Given the description of an element on the screen output the (x, y) to click on. 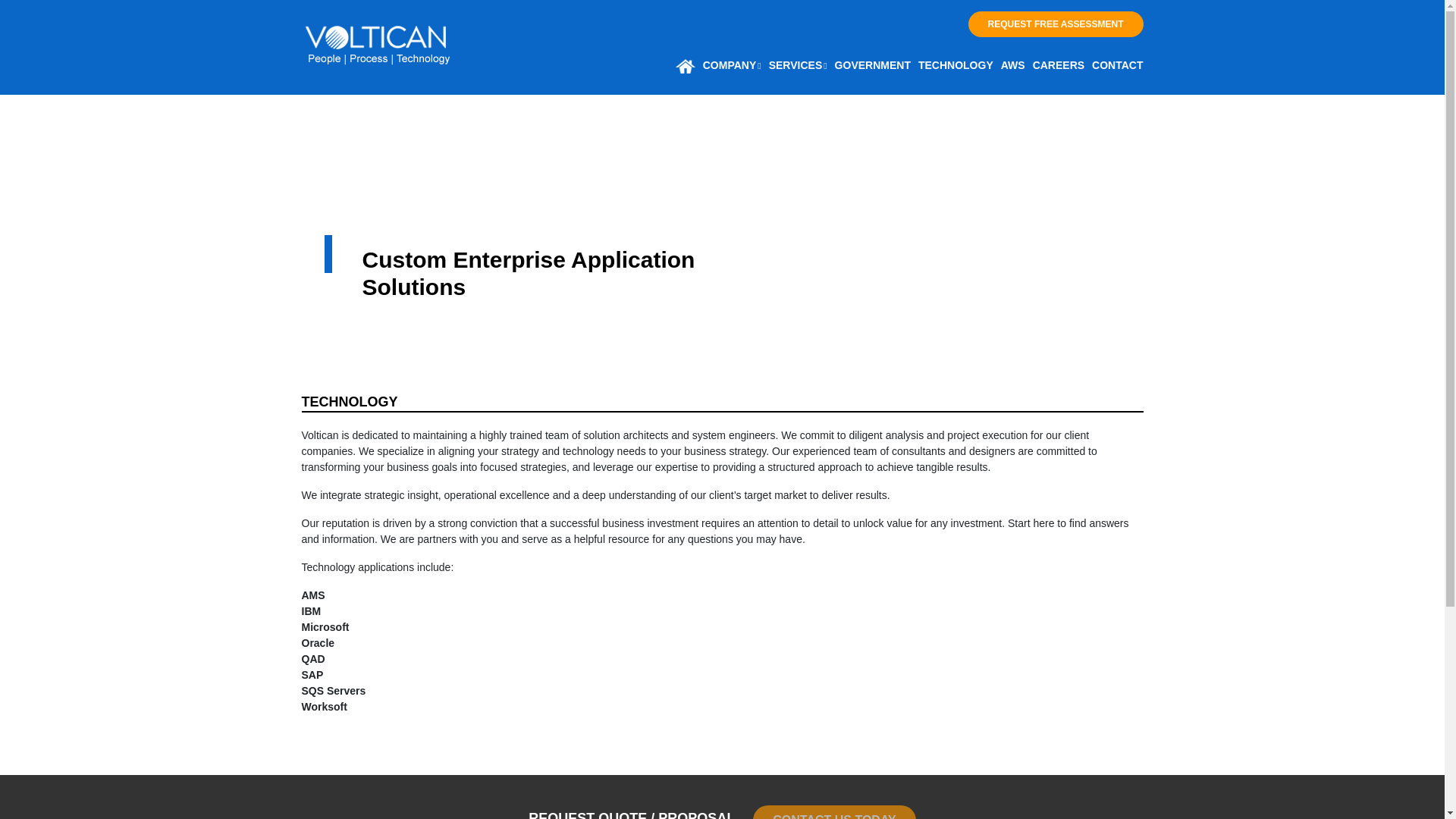
SERVICES (798, 65)
GOVERNMENT (872, 65)
REQUEST FREE ASSESSMENT (1055, 23)
CONTACT US TODAY (833, 812)
AWS (1013, 65)
CONTACT (1114, 65)
COMPANY (731, 65)
TECHNOLOGY (955, 65)
CAREERS (1058, 65)
